Given the description of an element on the screen output the (x, y) to click on. 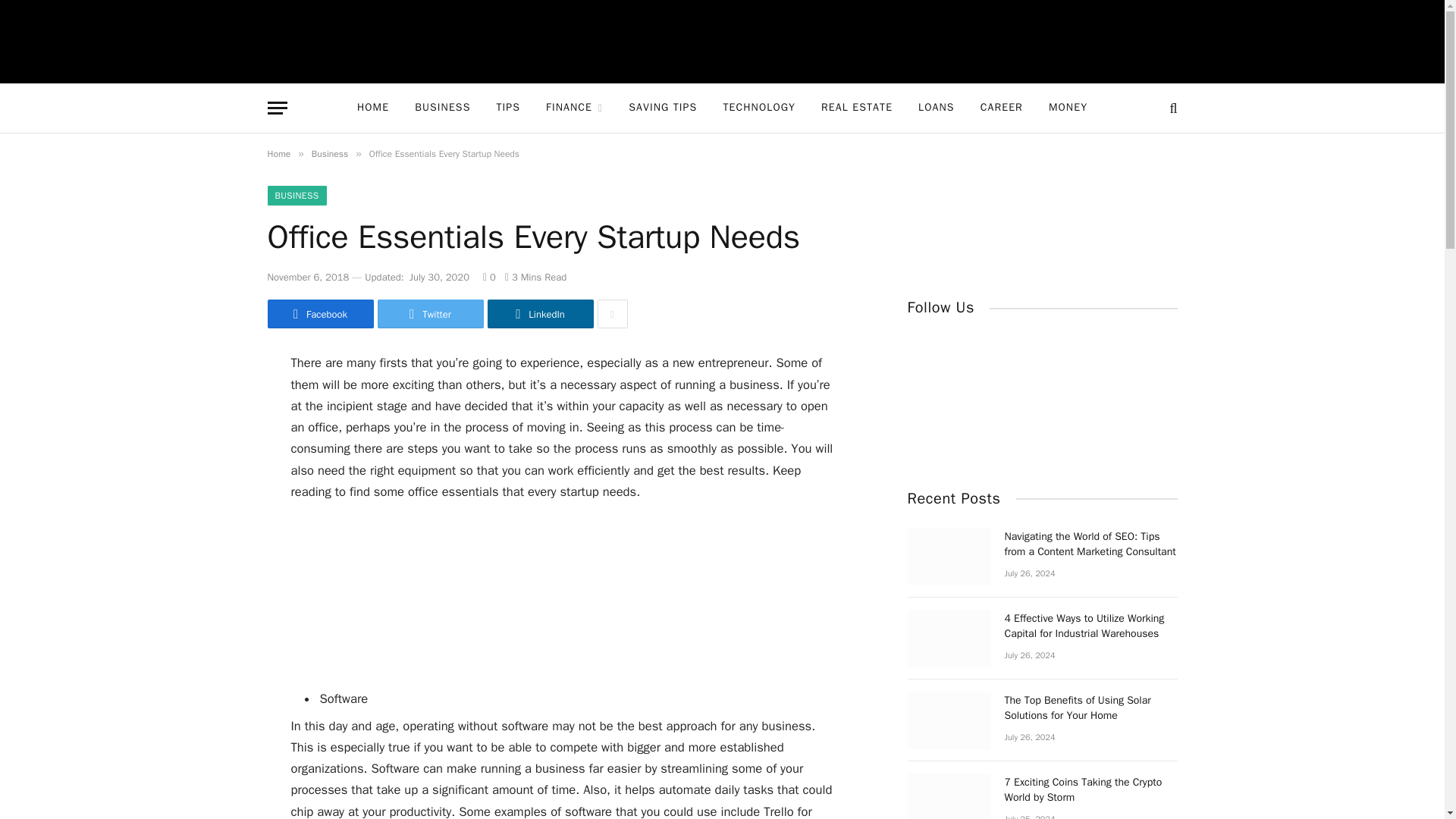
MONEY (1067, 107)
Business (329, 153)
LinkedIn (539, 313)
Show More Social Sharing (611, 313)
LOANS (936, 107)
0 (489, 277)
TECHNOLOGY (759, 107)
CAREER (1001, 107)
TIPS (507, 107)
SAVING TIPS (662, 107)
Search (1171, 107)
BUSINESS (296, 195)
HOME (372, 107)
Home (277, 153)
Twitter (430, 313)
